Given the description of an element on the screen output the (x, y) to click on. 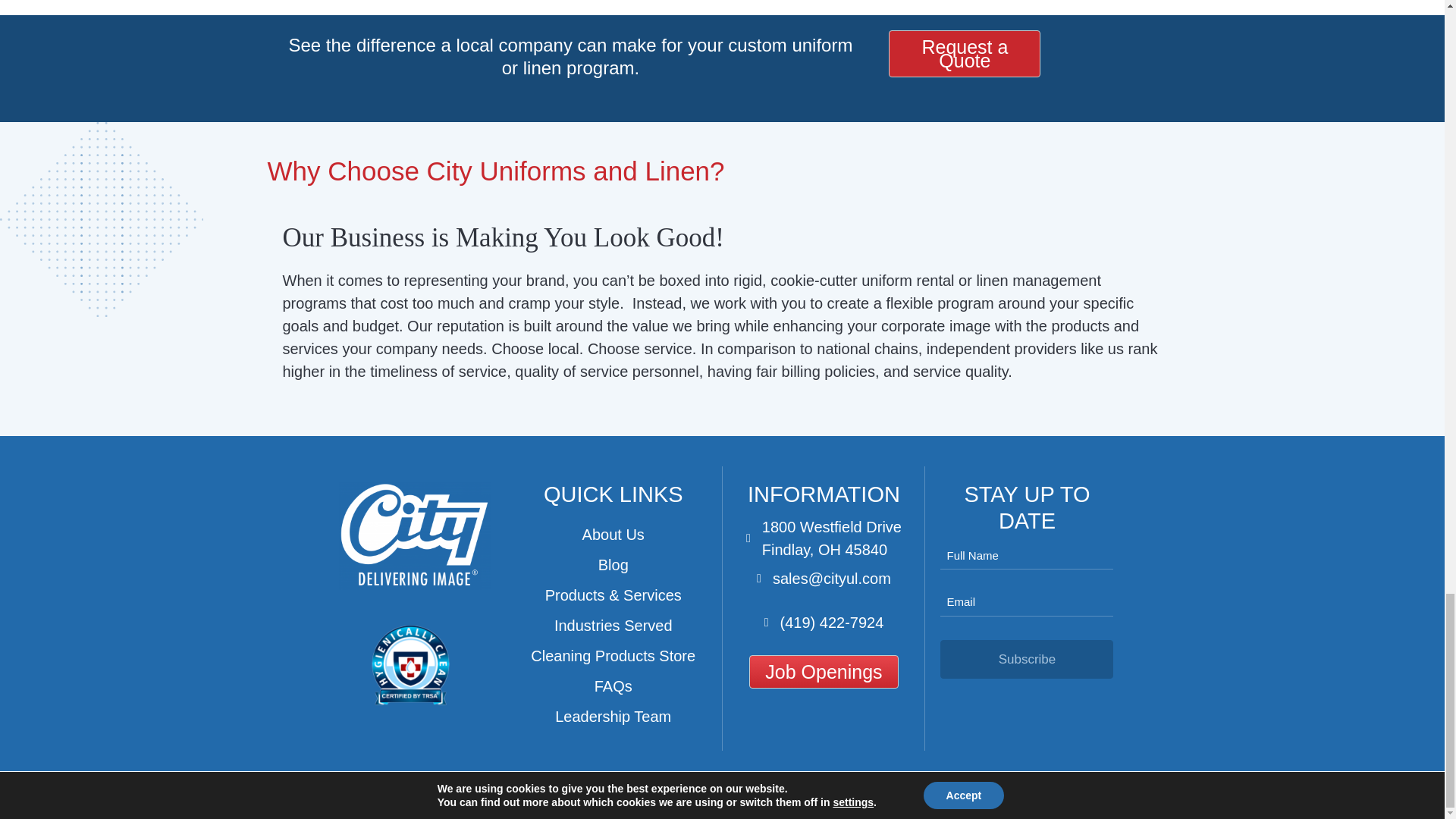
Subscribe (1026, 659)
